Given the description of an element on the screen output the (x, y) to click on. 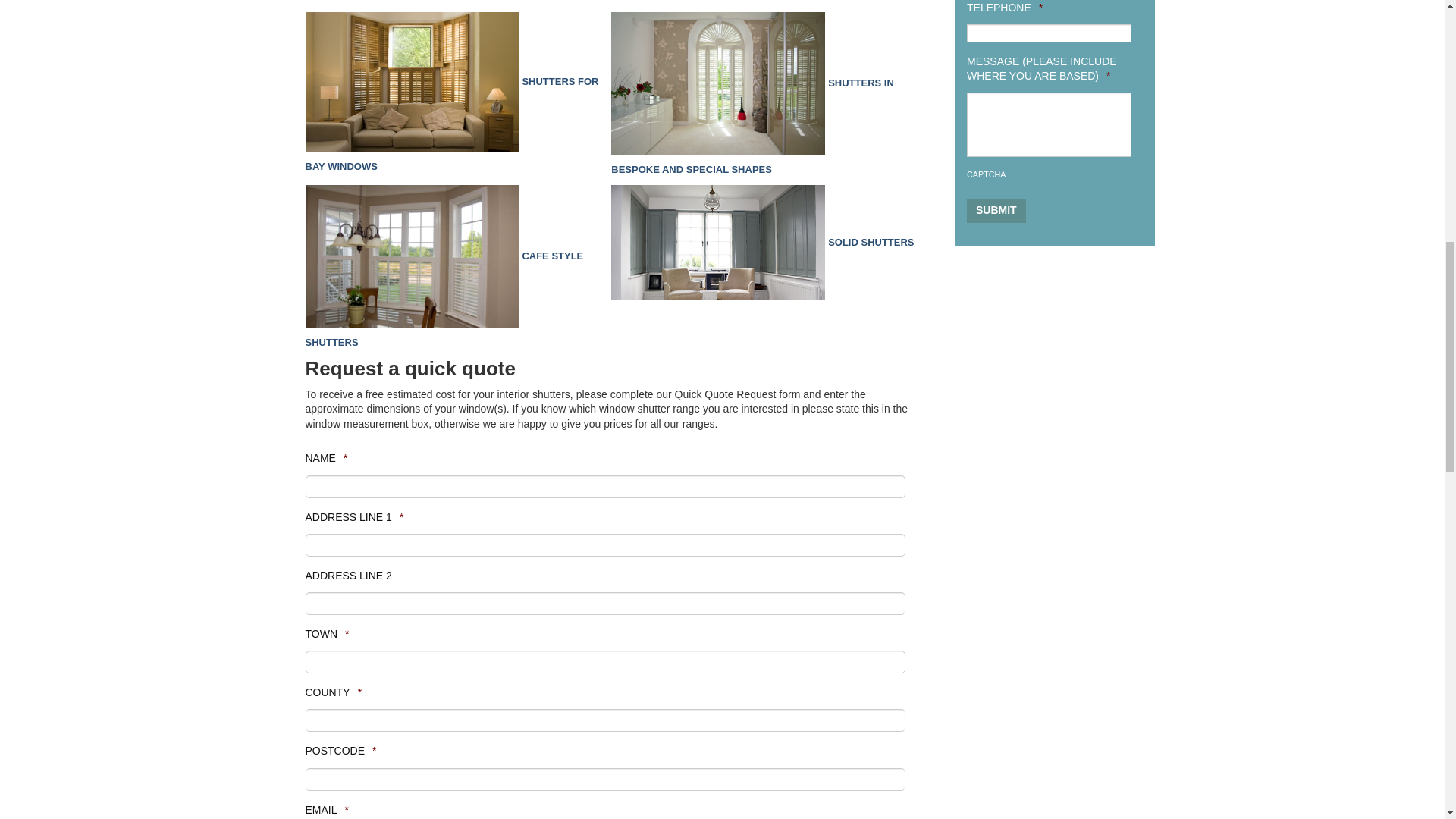
Submit (996, 210)
